Given the description of an element on the screen output the (x, y) to click on. 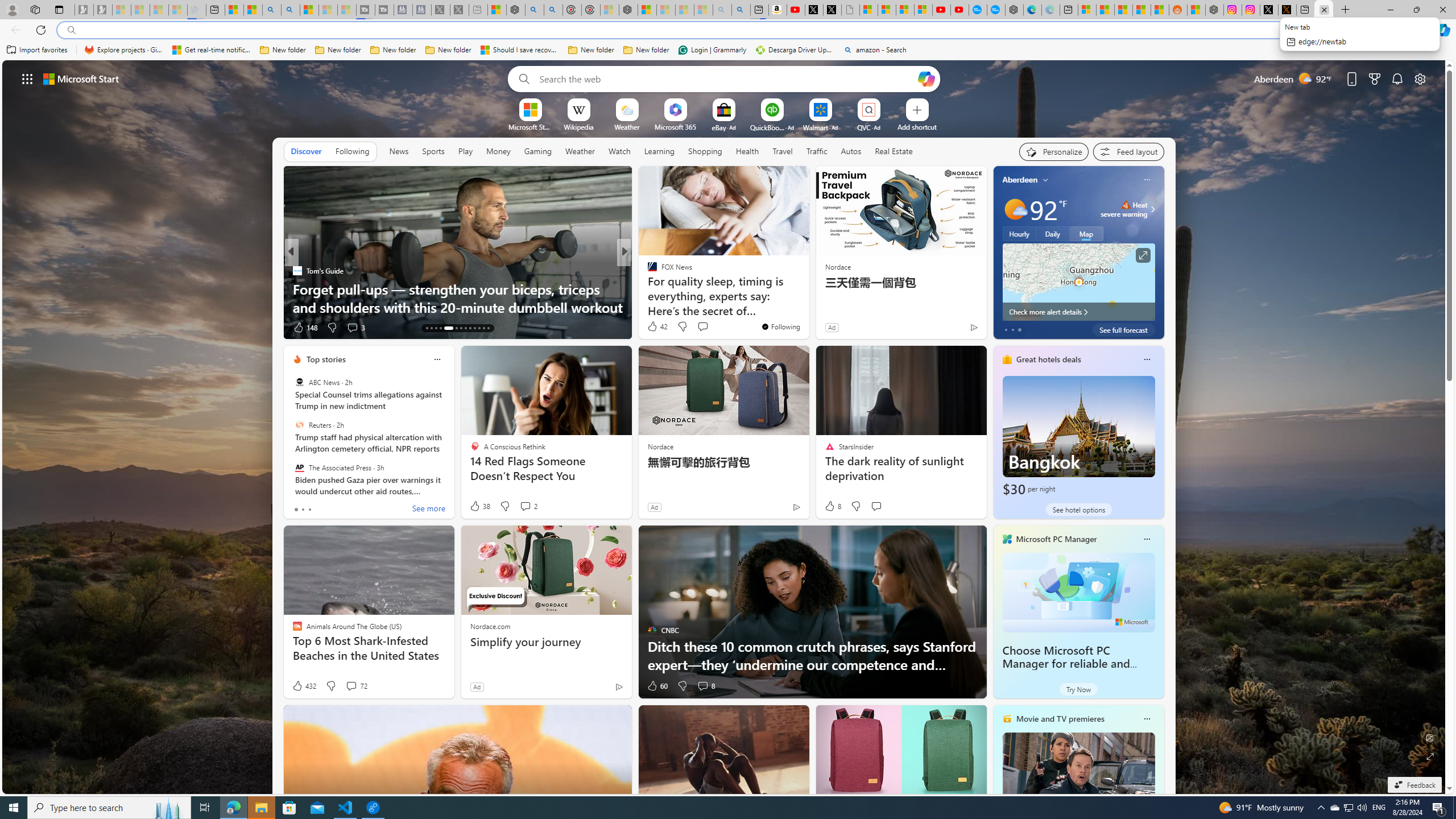
Weather (579, 151)
Newsletter Sign Up - Sleeping (102, 9)
New split screen (759, 9)
Microsoft start (81, 78)
View comments 72 Comment (355, 685)
Search icon (70, 29)
Reuters (299, 424)
Microsoft account | Microsoft Account Privacy Settings (1086, 9)
tab-0 (295, 509)
